Given the description of an element on the screen output the (x, y) to click on. 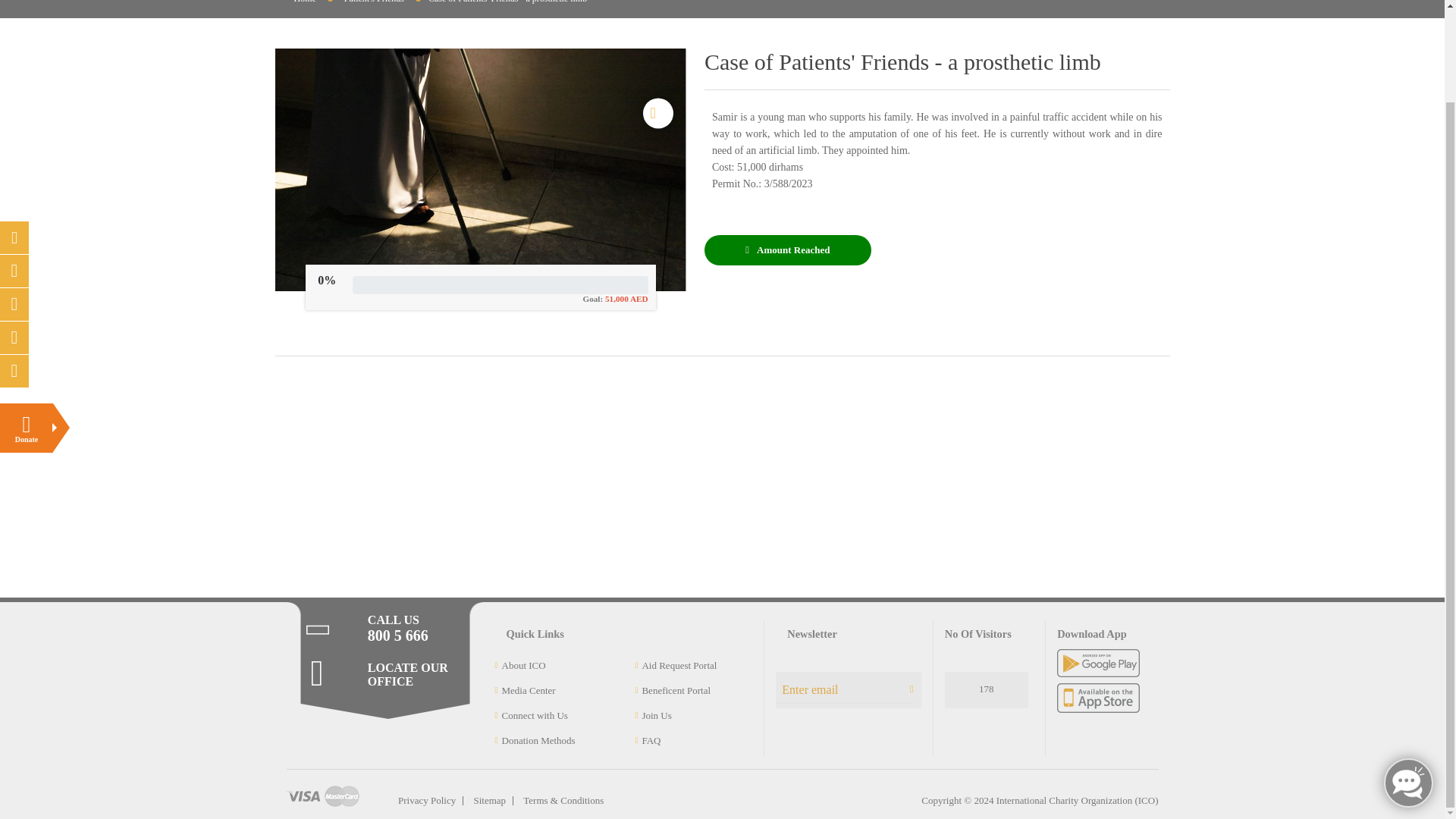
Zakat Calculator (14, 164)
Web tour (14, 197)
Donate (26, 322)
Donate (26, 322)
Contact us (14, 231)
Whatsup (14, 264)
